Given the description of an element on the screen output the (x, y) to click on. 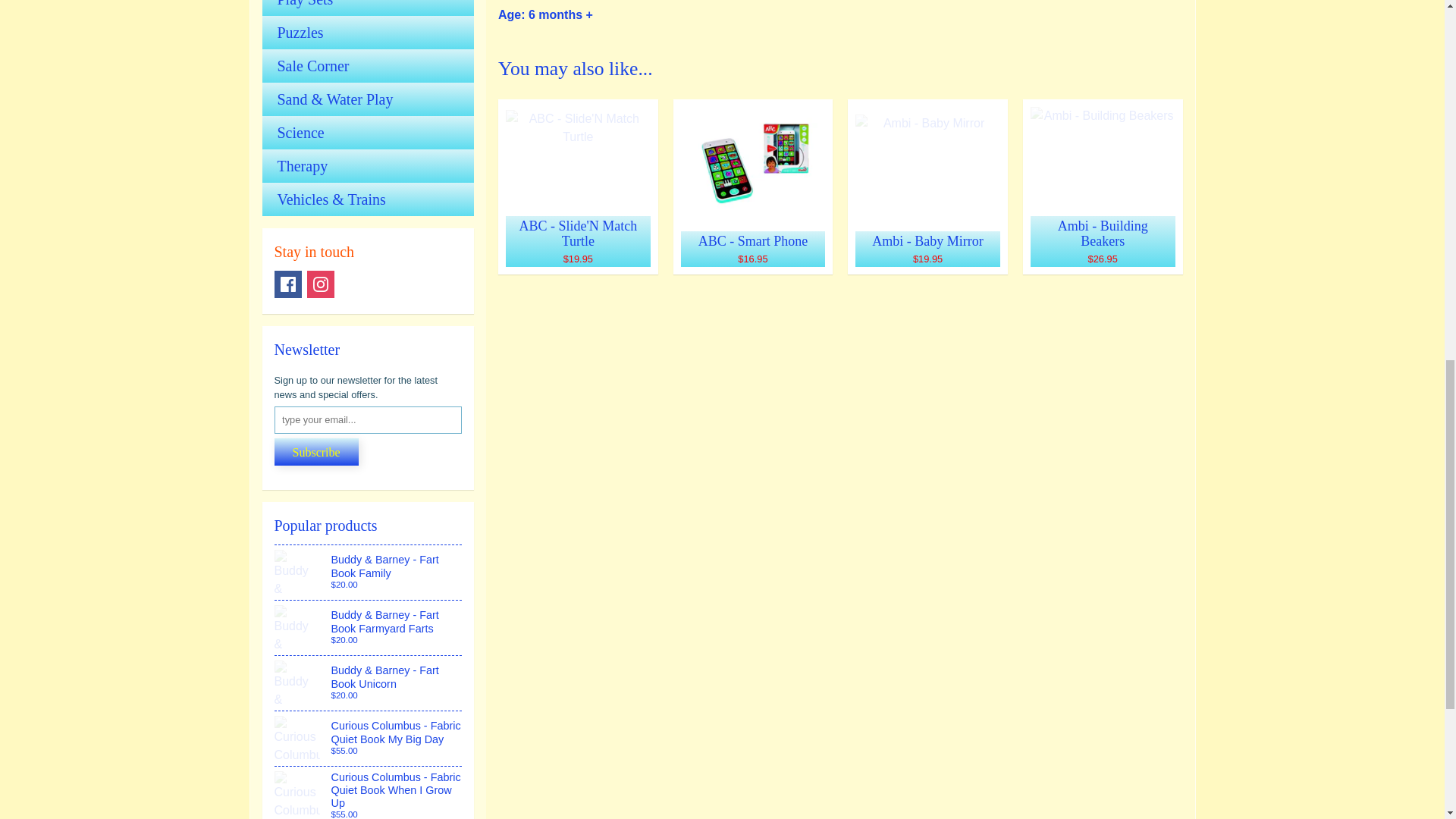
ABC - Slide'N Match Turtle (577, 186)
Curious Columbus - Fabric Quiet Book When I Grow Up (369, 792)
Science (368, 132)
Ambi - Building Beakers (1102, 186)
Facebook (288, 284)
Instagram (320, 284)
Play Sets (368, 7)
Therapy (368, 165)
Puzzles (368, 32)
Curious Columbus - Fabric Quiet Book My Big Day (369, 738)
Ambi - Baby Mirror (927, 186)
Sale Corner (368, 65)
ABC - Smart Phone (752, 186)
